Given the description of an element on the screen output the (x, y) to click on. 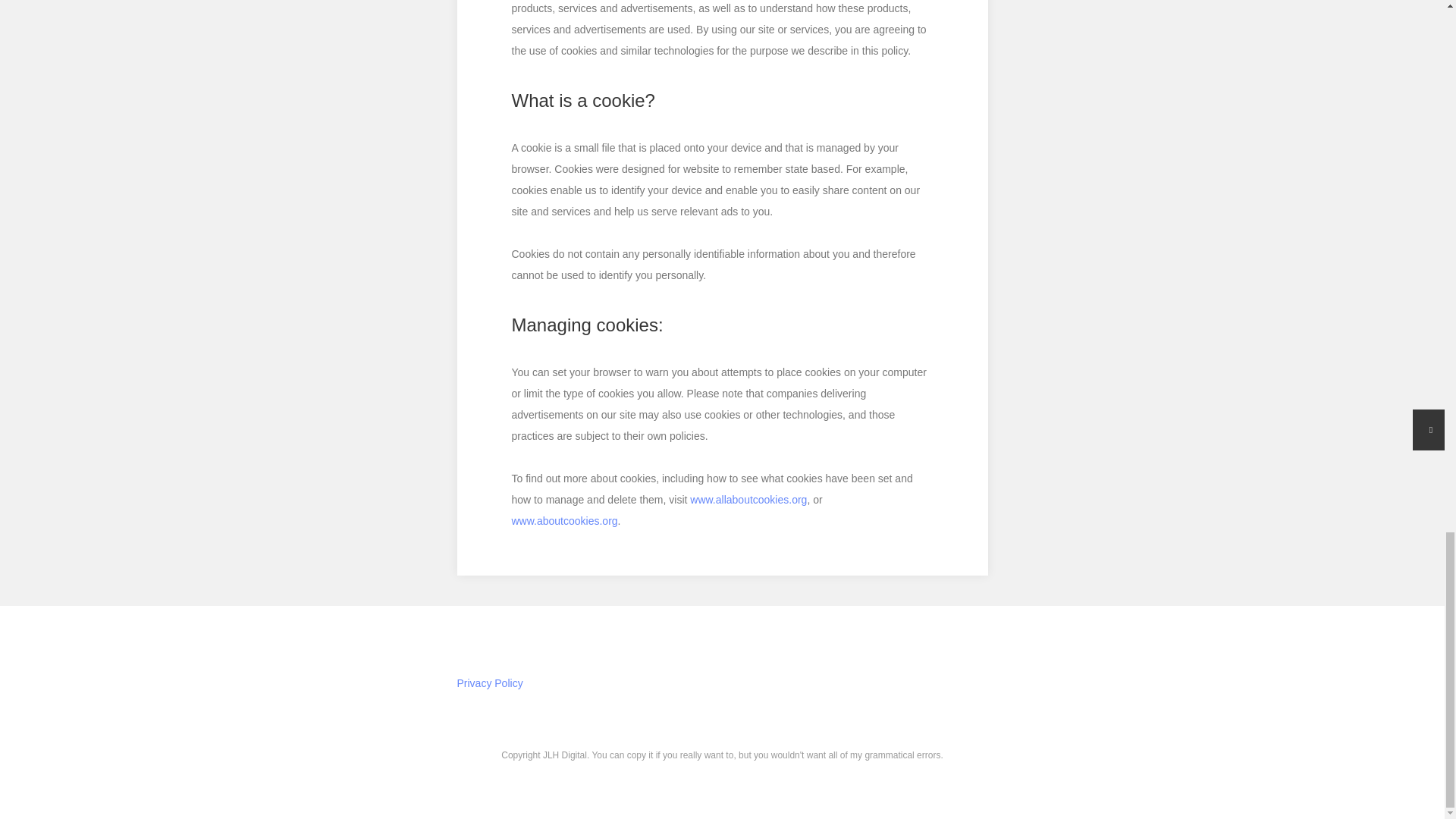
Privacy Policy (722, 682)
www.allaboutcookies.org (748, 499)
www.aboutcookies.org (564, 521)
